Given the description of an element on the screen output the (x, y) to click on. 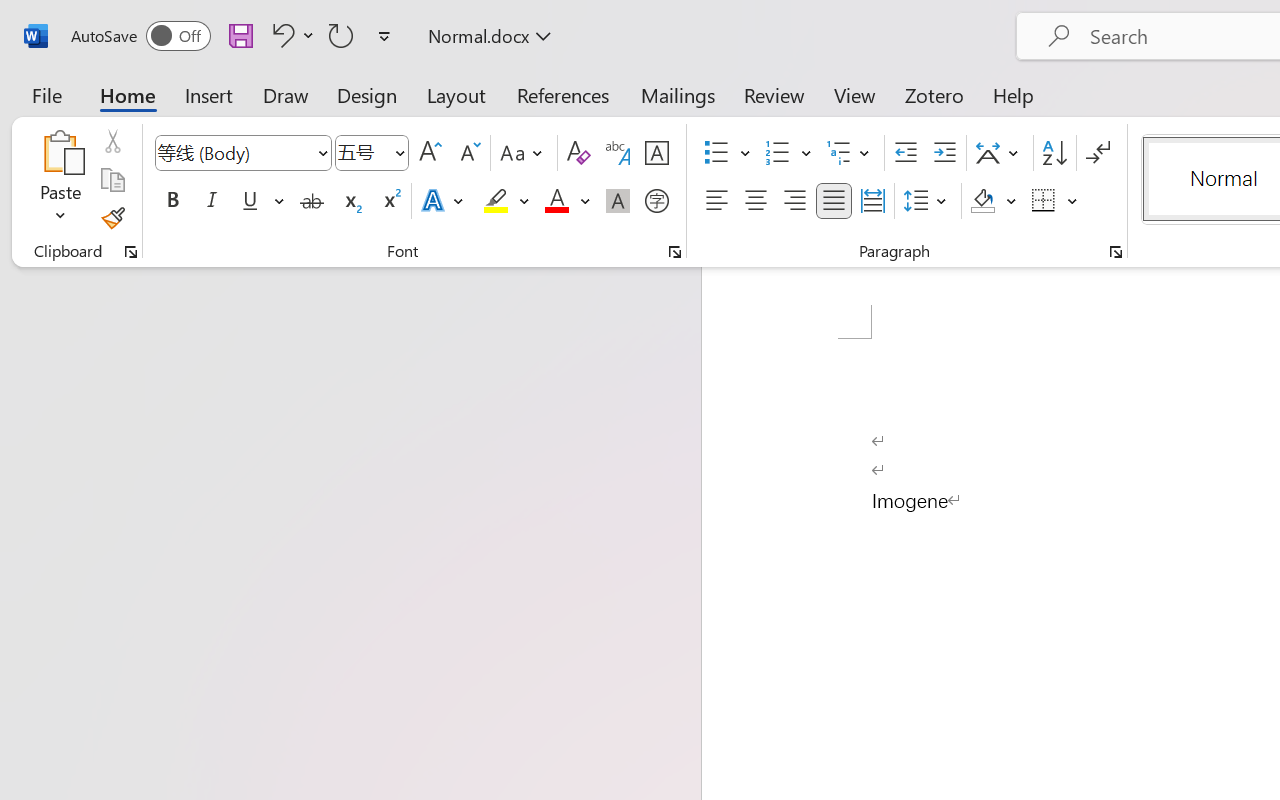
Line and Paragraph Spacing (927, 201)
Shrink Font (468, 153)
Text Highlight Color Yellow (495, 201)
Decrease Indent (906, 153)
Subscript (350, 201)
Clear Formatting (578, 153)
Asian Layout (1000, 153)
Enclose Characters... (656, 201)
